Given the description of an element on the screen output the (x, y) to click on. 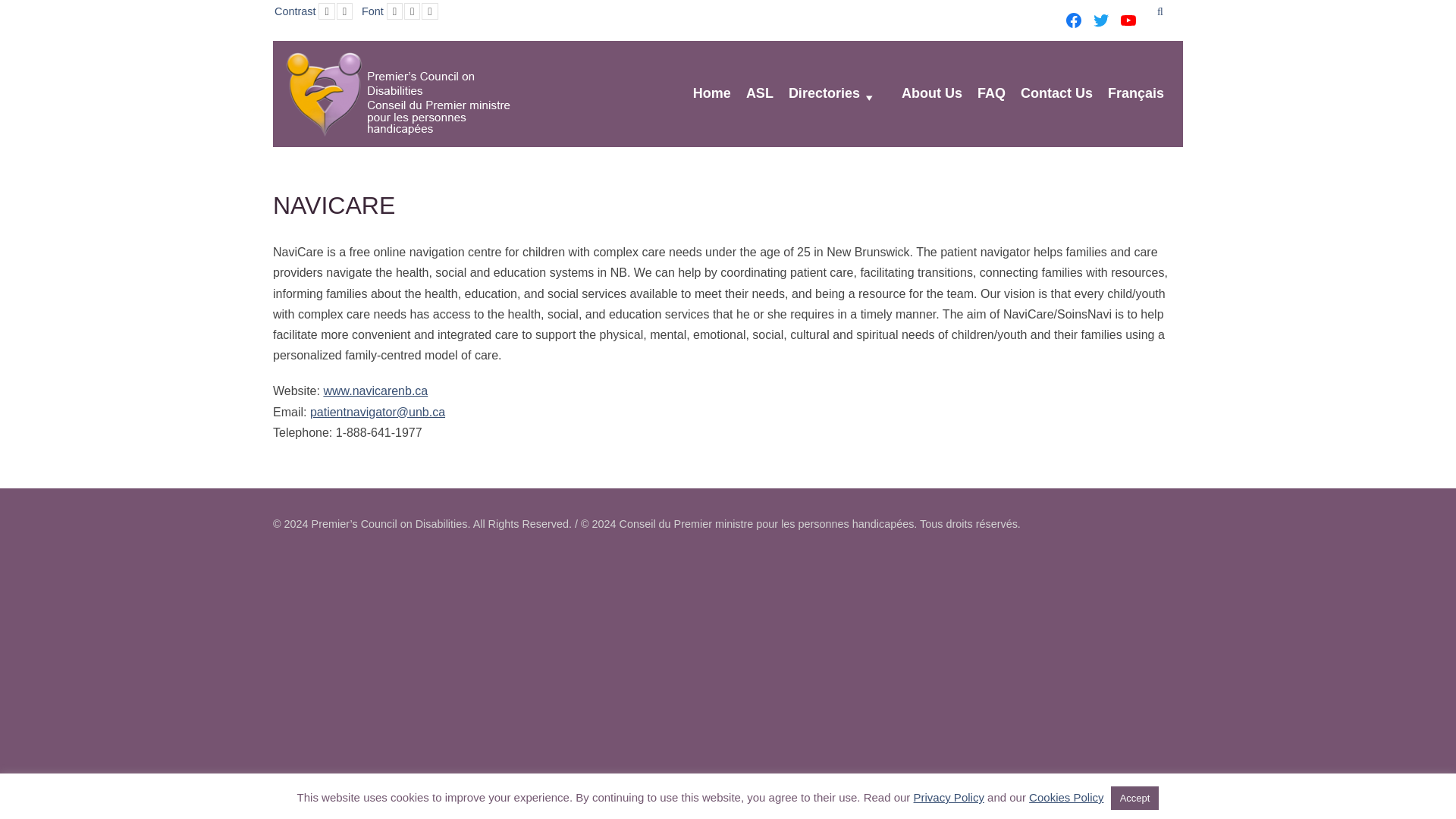
Smaller Font (395, 11)
Night contrast (344, 11)
Larger Font (430, 11)
Twitter (1100, 20)
Set larger font size (430, 11)
Set smaller font size (395, 11)
PCD-CPMPH (397, 93)
Set night contrast mode (344, 11)
Default contrast (326, 11)
Set default contrast mode (326, 11)
